Given the description of an element on the screen output the (x, y) to click on. 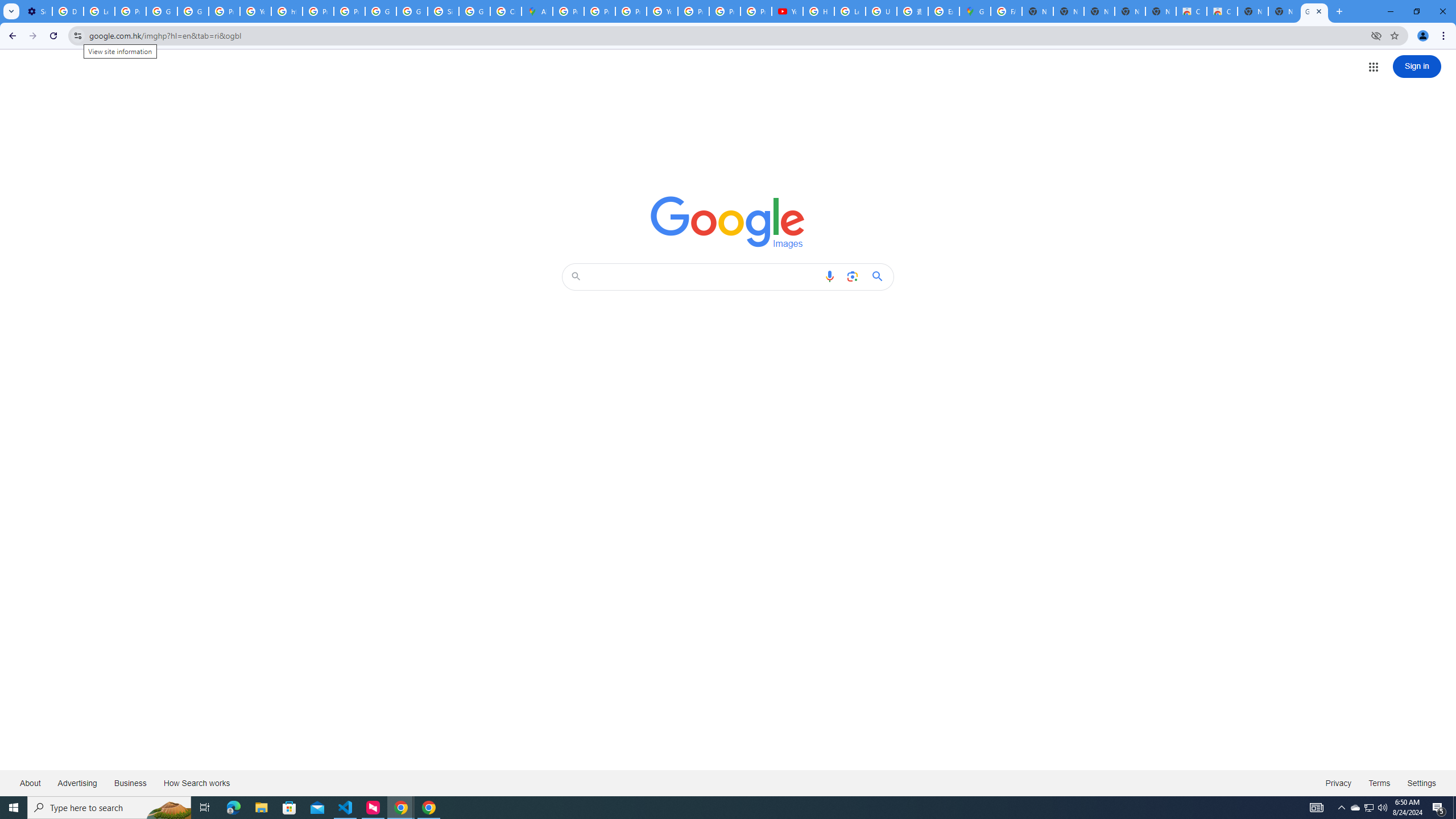
Privacy Checkup (724, 11)
Privacy Help Center - Policies Help (318, 11)
YouTube (255, 11)
How Search works (196, 782)
Delete photos & videos - Computer - Google Photos Help (67, 11)
Privacy Help Center - Policies Help (599, 11)
